Given the description of an element on the screen output the (x, y) to click on. 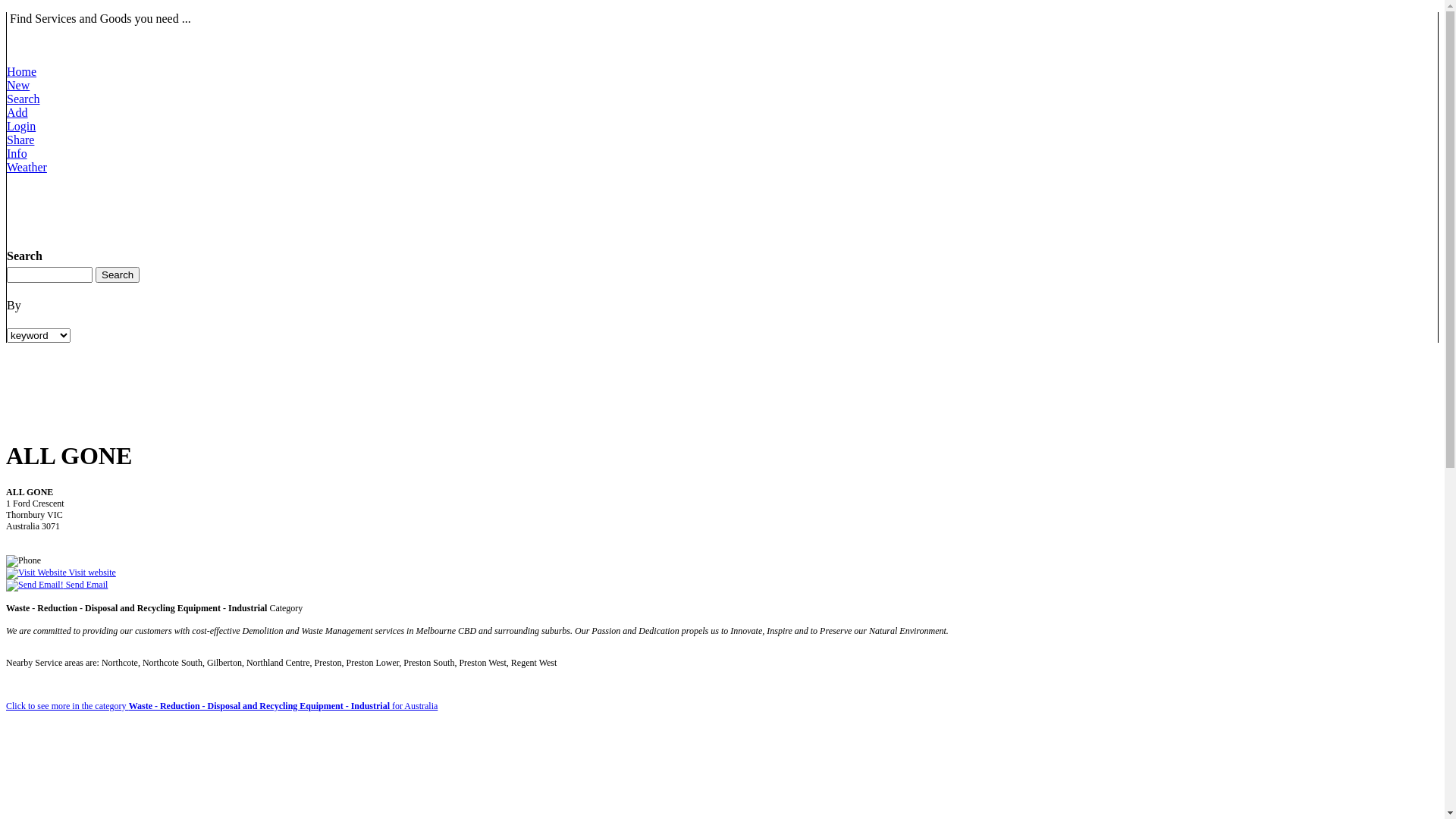
Search Element type: text (117, 274)
Advertisement Element type: hover (282, 388)
Weather Element type: text (26, 173)
Advertisement Element type: hover (282, 208)
Share Element type: text (20, 146)
Login Element type: text (20, 132)
New Element type: text (21, 91)
Home Element type: text (21, 78)
Add Element type: text (23, 119)
Info Element type: text (20, 160)
Visit Website Element type: hover (36, 573)
Visit website Element type: text (61, 572)
Search Element type: text (23, 105)
Send Email Element type: text (56, 584)
